Given the description of an element on the screen output the (x, y) to click on. 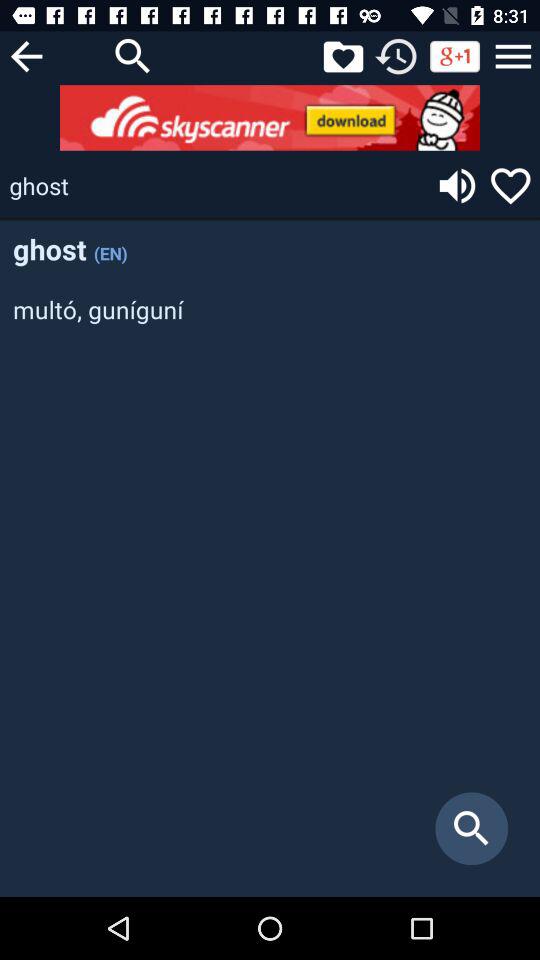
go back (26, 56)
